Given the description of an element on the screen output the (x, y) to click on. 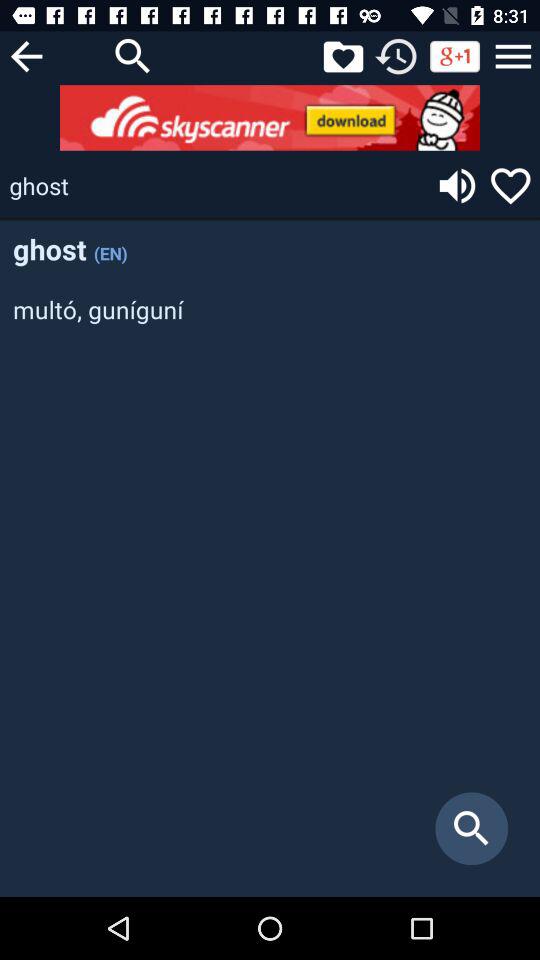
go back (26, 56)
